Given the description of an element on the screen output the (x, y) to click on. 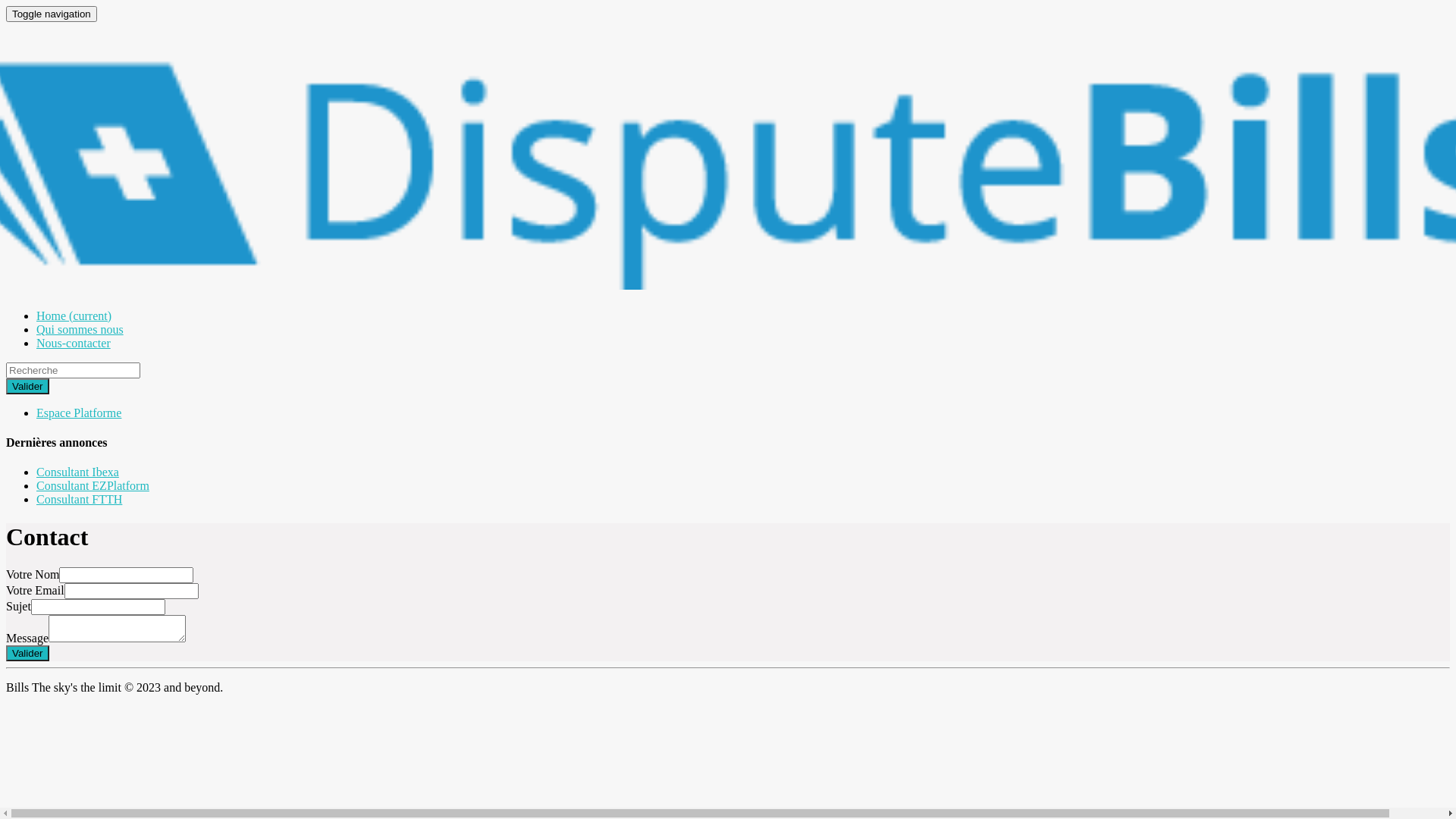
Consultant FTTH Element type: text (79, 498)
Qui sommes nous Element type: text (79, 329)
Toggle navigation Element type: text (51, 13)
Valider Element type: text (27, 386)
Home (current) Element type: text (73, 315)
Consultant EZPlatform Element type: text (92, 485)
Nous-contacter Element type: text (73, 342)
Consultant Ibexa Element type: text (77, 471)
Espace Platforme Element type: text (78, 412)
Valider Element type: text (27, 653)
